Given the description of an element on the screen output the (x, y) to click on. 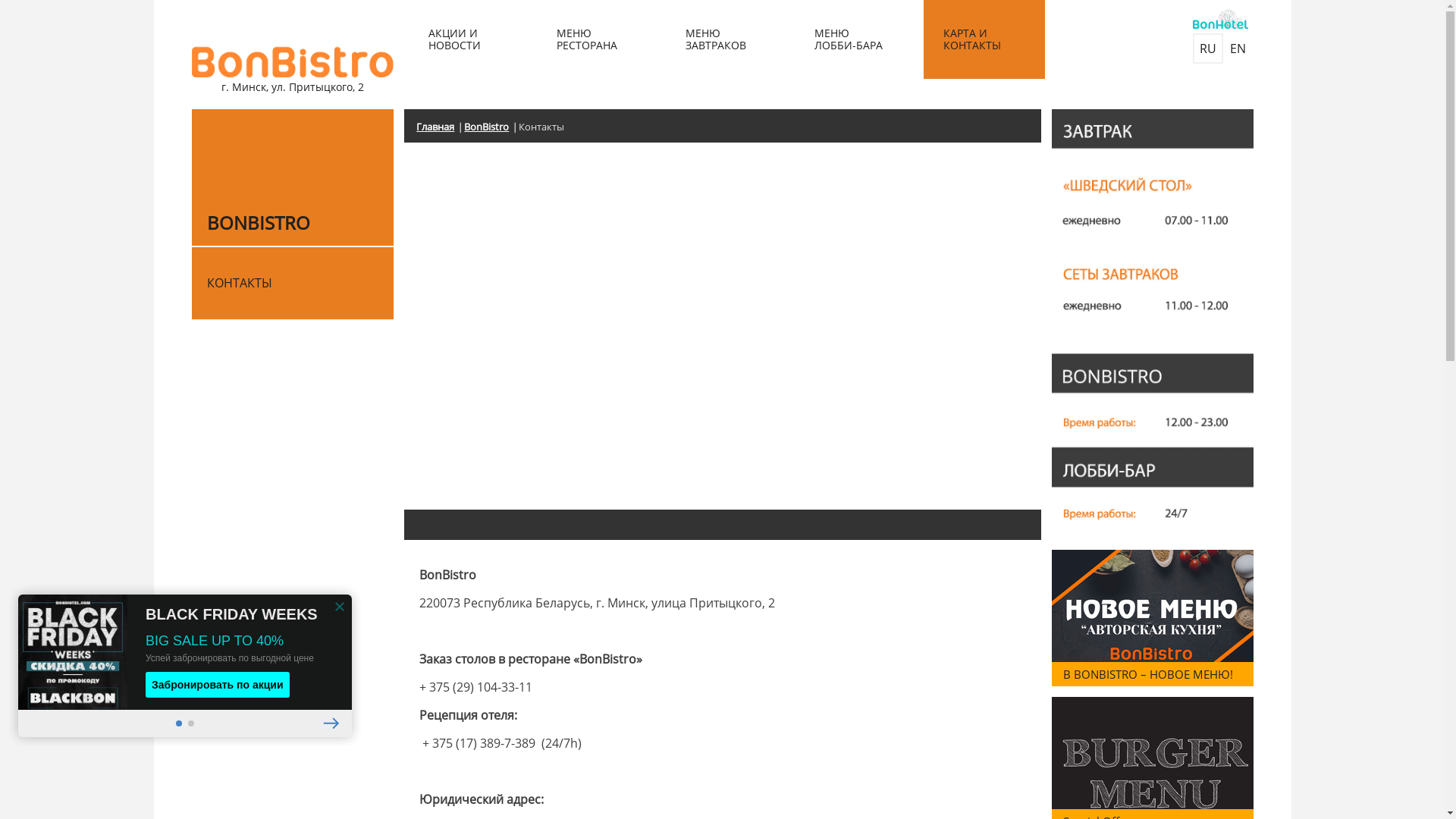
EN Element type: text (1237, 48)
BonBistro Element type: text (491, 126)
RU Element type: text (1207, 48)
